Given the description of an element on the screen output the (x, y) to click on. 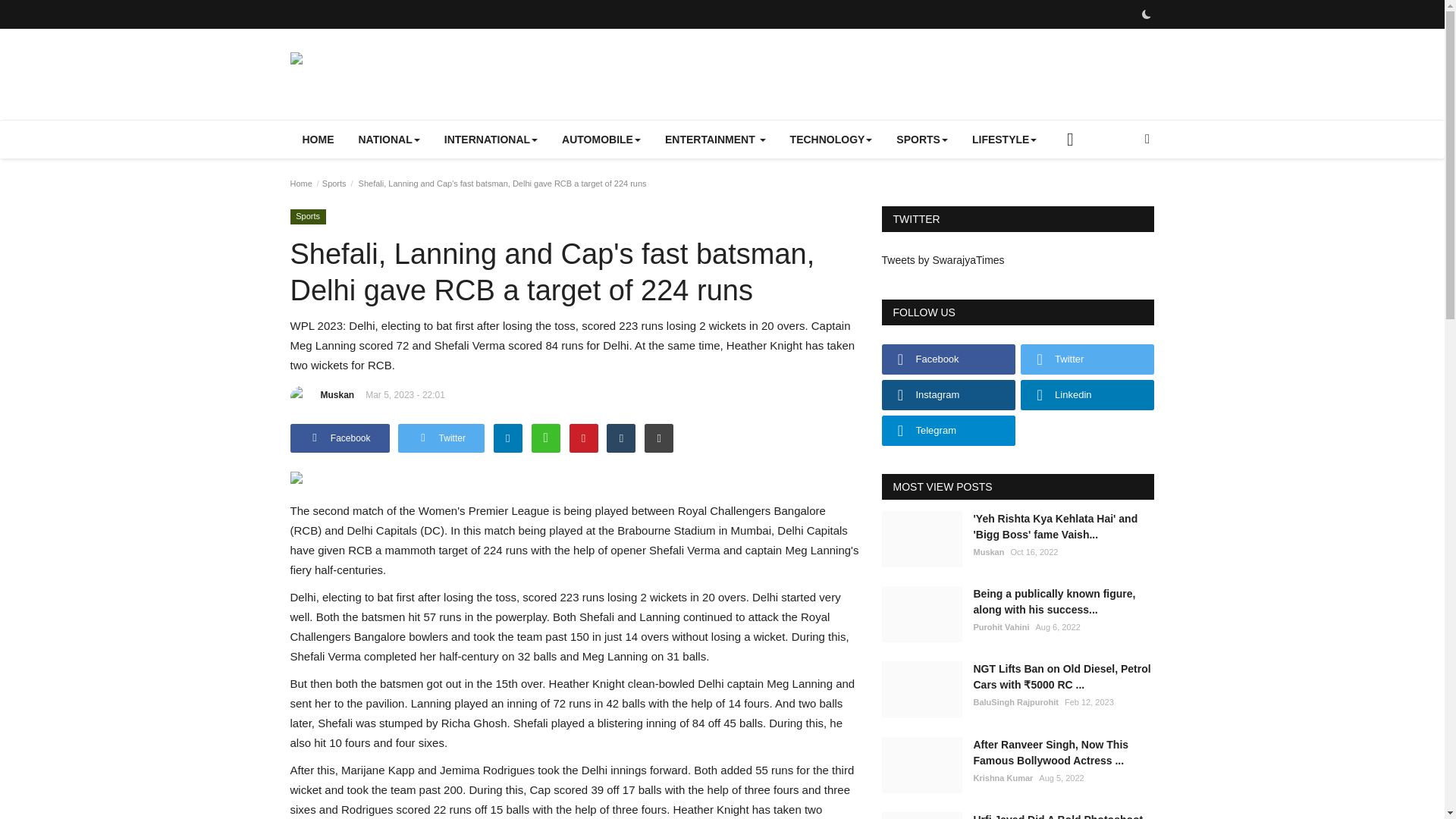
AUTOMOBILE (601, 139)
dark (1145, 14)
NATIONAL (388, 139)
INTERNATIONAL (491, 139)
HOME (317, 139)
